Given the description of an element on the screen output the (x, y) to click on. 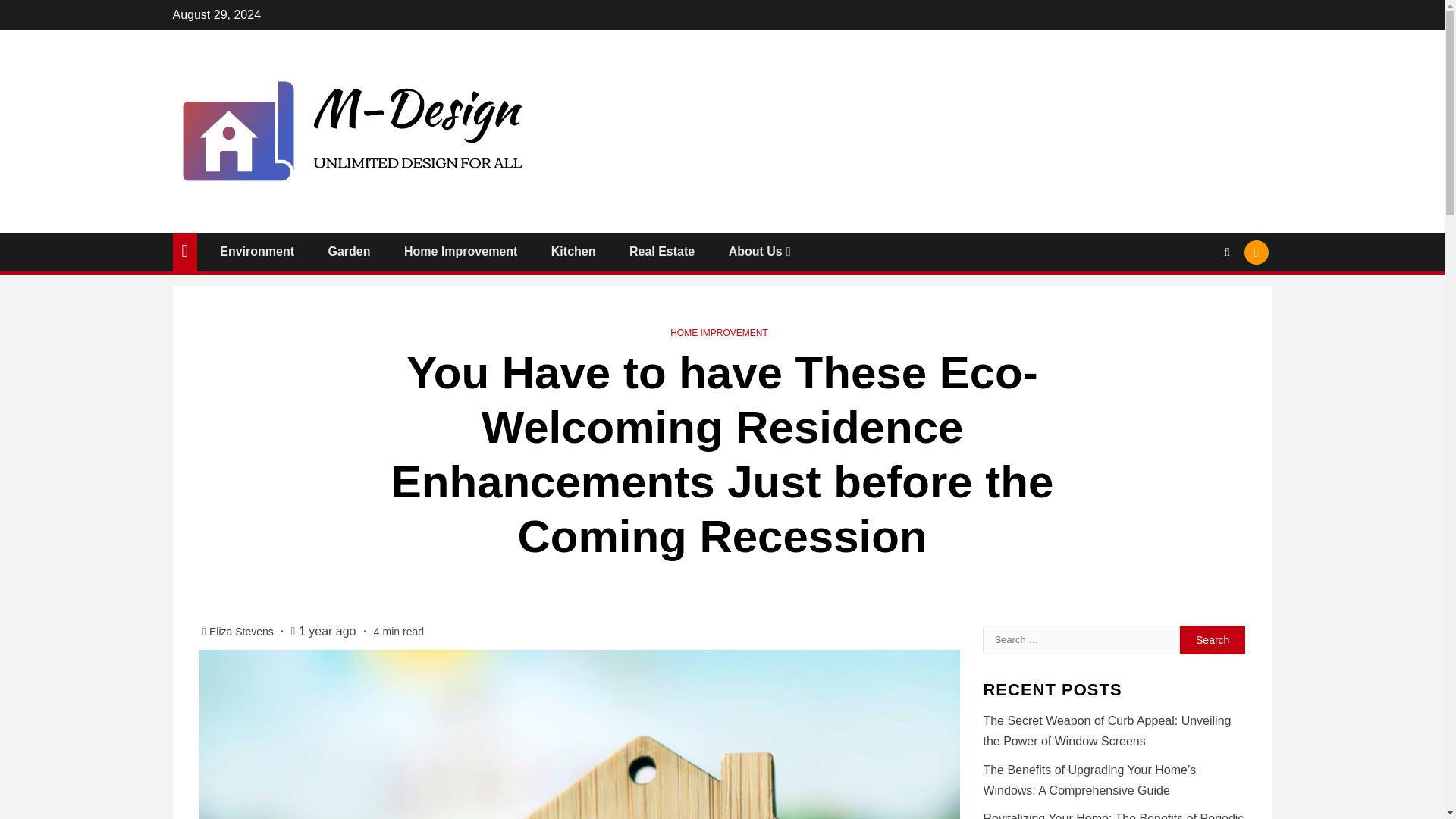
Environment (256, 250)
Search (1212, 638)
Garden (350, 250)
Eliza Stevens (242, 631)
Search (1197, 298)
HOME IMPROVEMENT (718, 332)
About Us (761, 250)
Kitchen (573, 250)
Real Estate (661, 250)
